Given the description of an element on the screen output the (x, y) to click on. 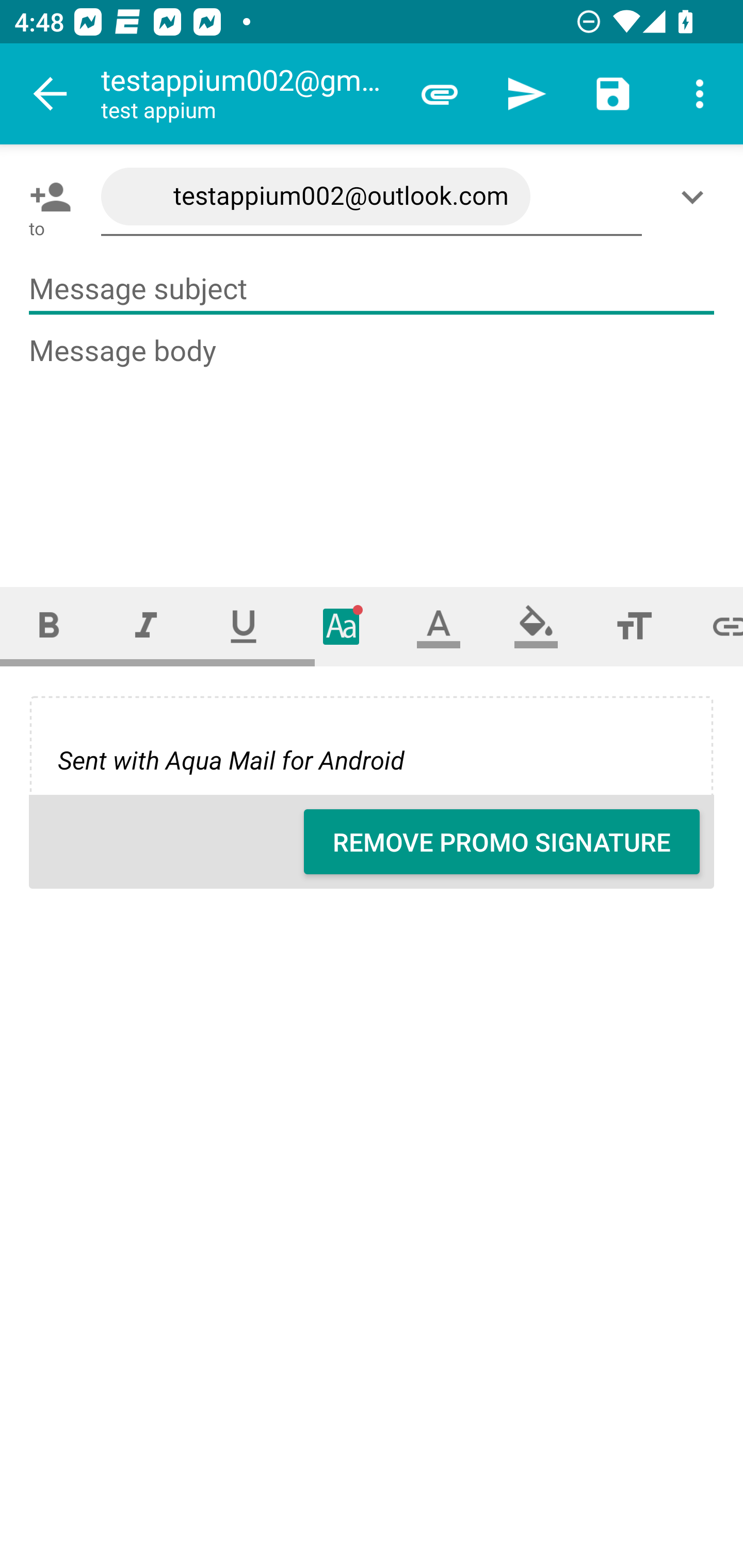
Navigate up (50, 93)
testappium002@gmail.com test appium (248, 93)
Attach (439, 93)
Send (525, 93)
Save (612, 93)
More options (699, 93)
testappium002@outlook.com,  (371, 197)
Pick contact: To (46, 196)
Show/Add CC/BCC (696, 196)
Message subject (371, 288)
Message body (372, 442)
Bold (48, 626)
Italic (145, 626)
Underline (243, 626)
Typeface (font) (341, 626)
Text color (438, 626)
Fill color (536, 626)
Font size (633, 626)
Set link (712, 626)
REMOVE PROMO SIGNATURE (501, 841)
